Given the description of an element on the screen output the (x, y) to click on. 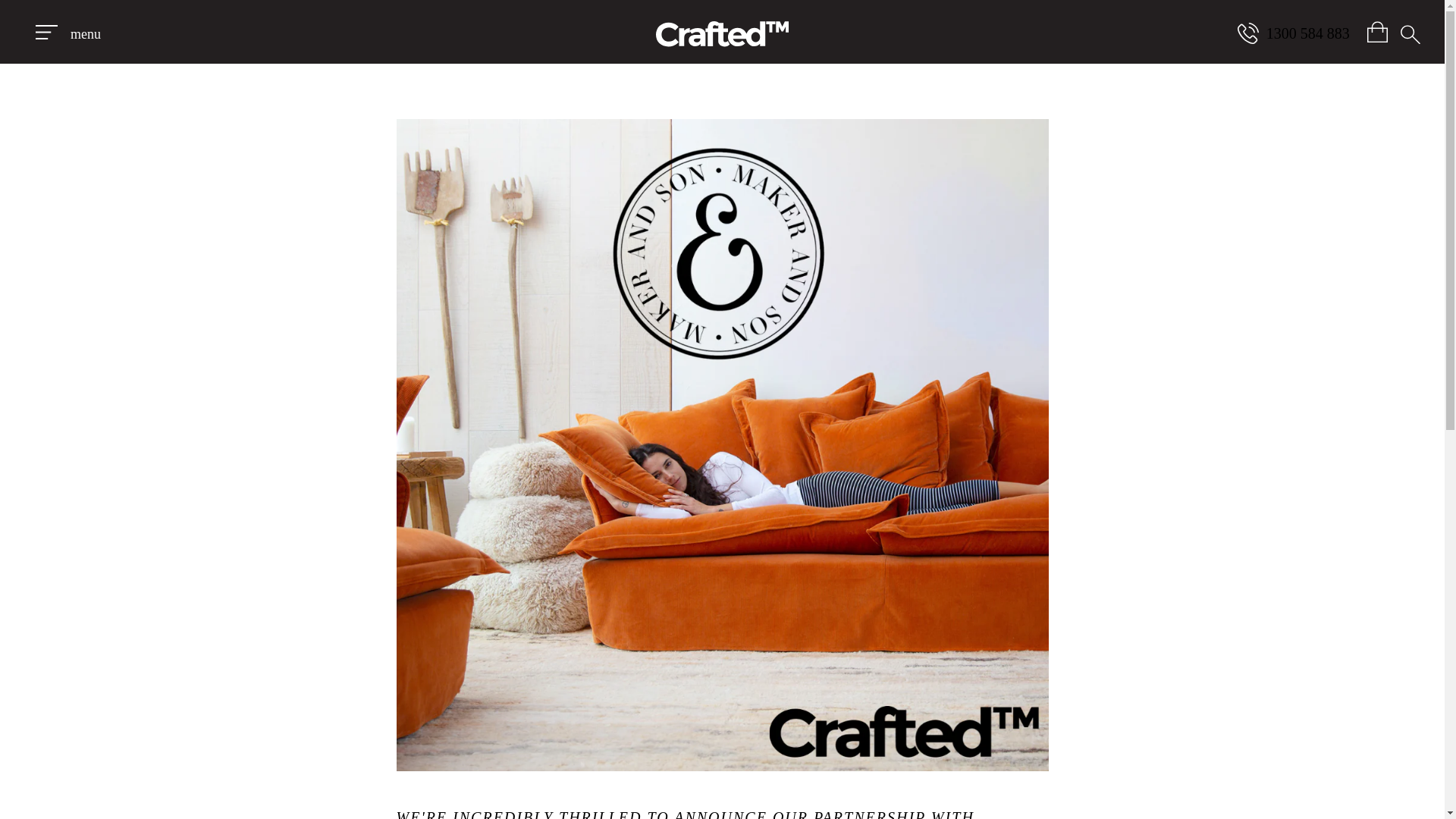
Shopping Cart (1377, 31)
1300 584 883 (1293, 33)
Crafted Furniture (721, 30)
